Given the description of an element on the screen output the (x, y) to click on. 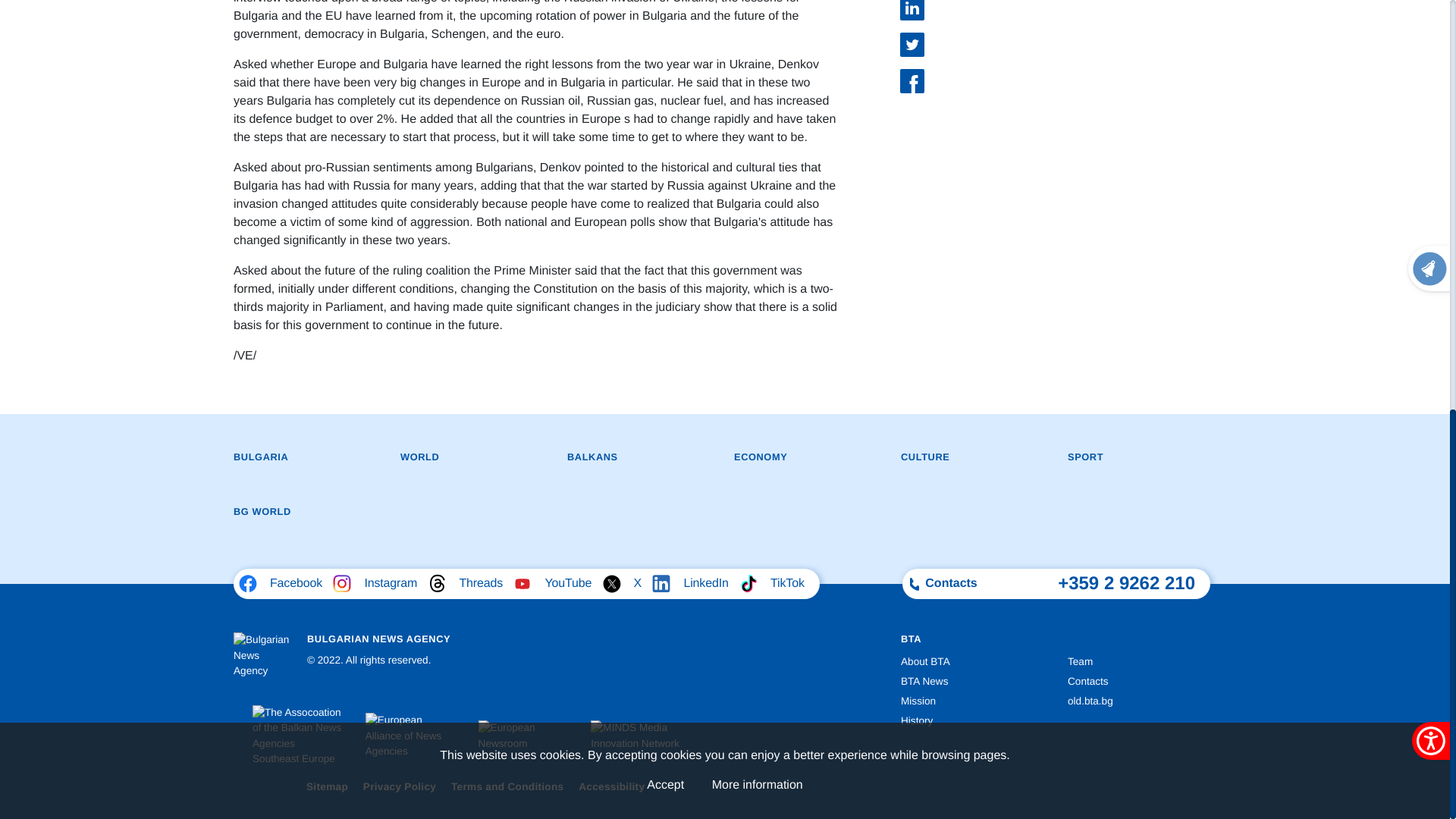
Bulgarian News Agency (263, 655)
